Given the description of an element on the screen output the (x, y) to click on. 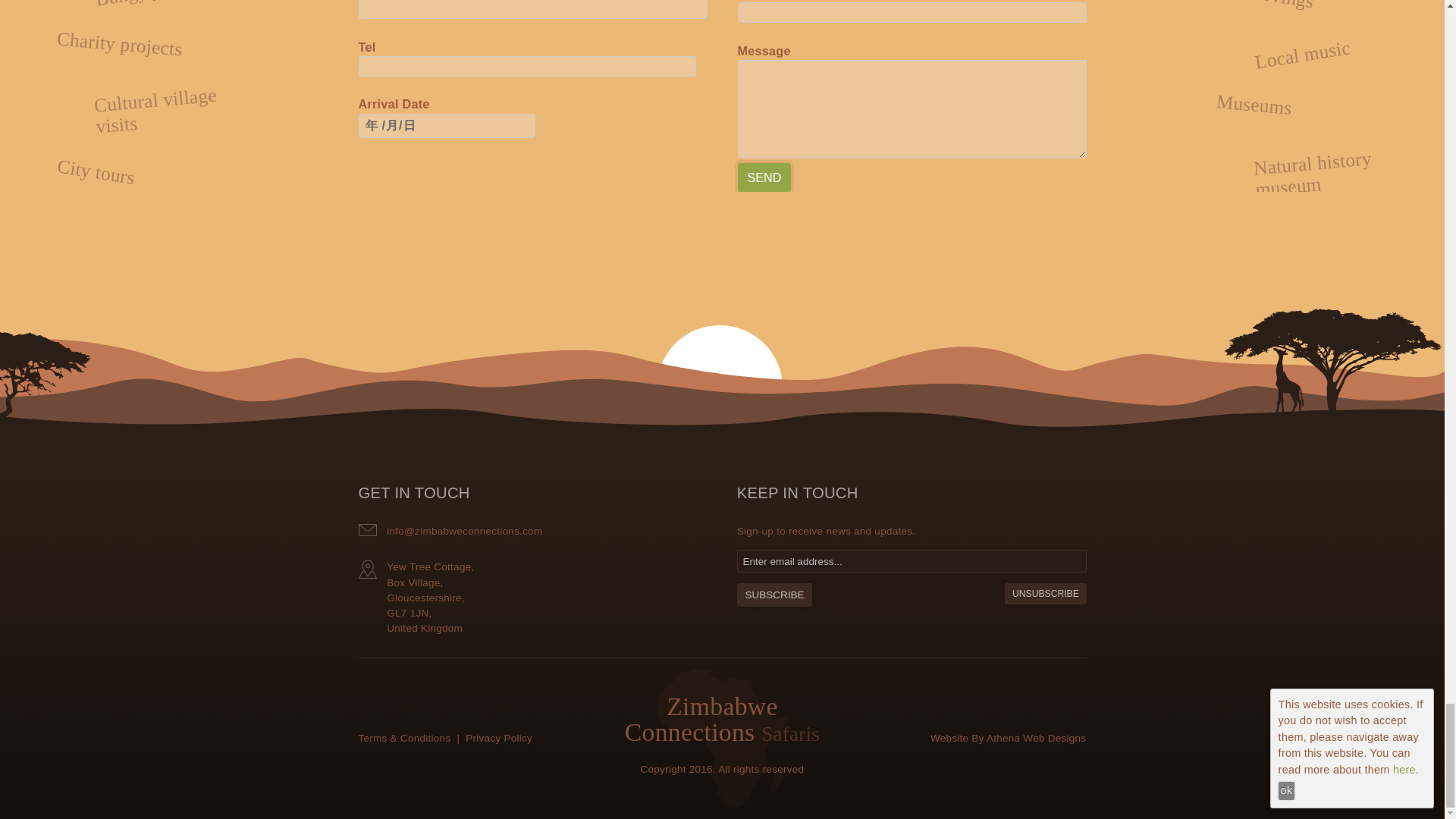
Enter email address... (911, 561)
Unsubscribe (1045, 593)
Subscribe (774, 594)
Send (763, 176)
